Given the description of an element on the screen output the (x, y) to click on. 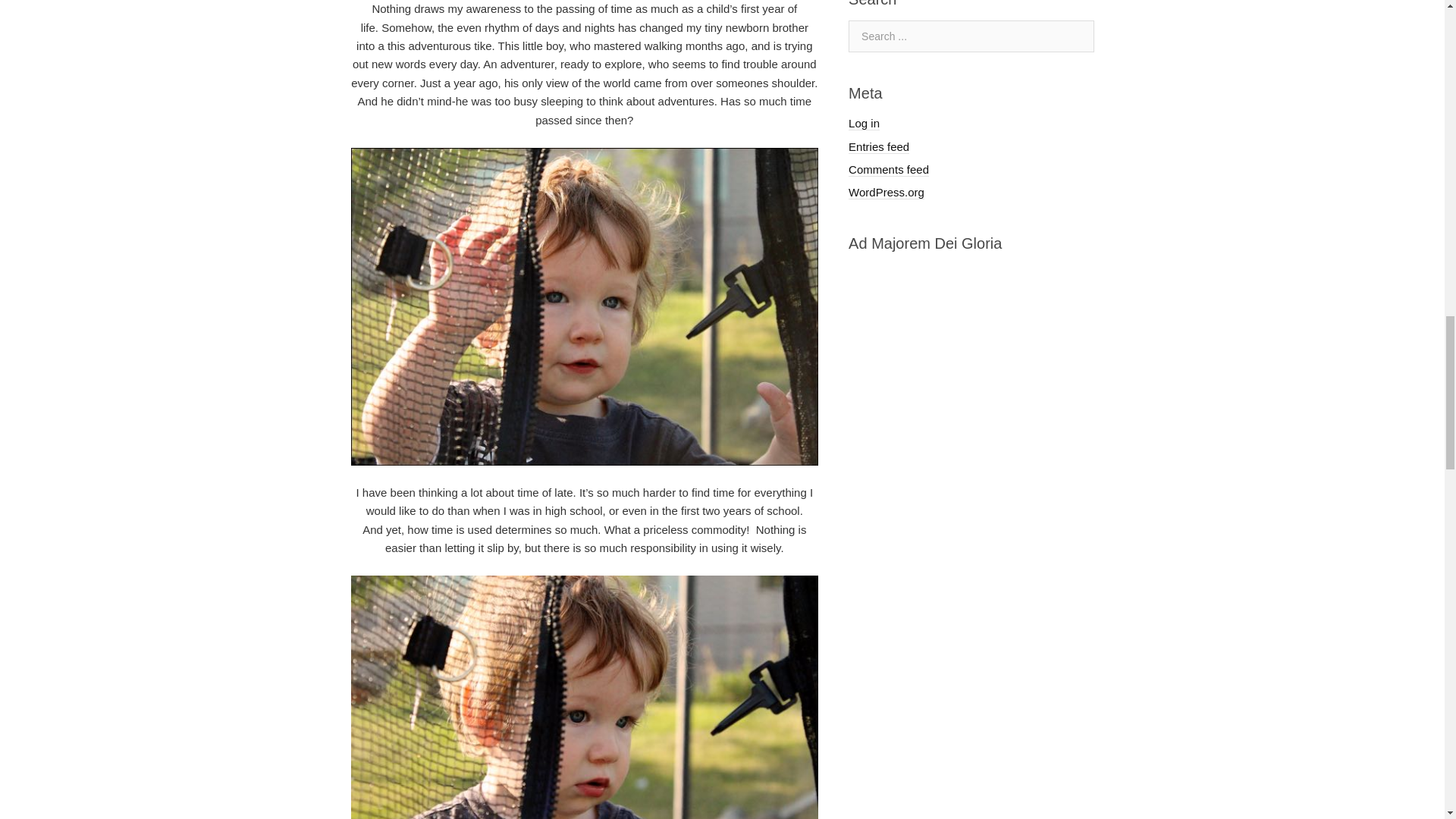
Search for: (970, 36)
